Given the description of an element on the screen output the (x, y) to click on. 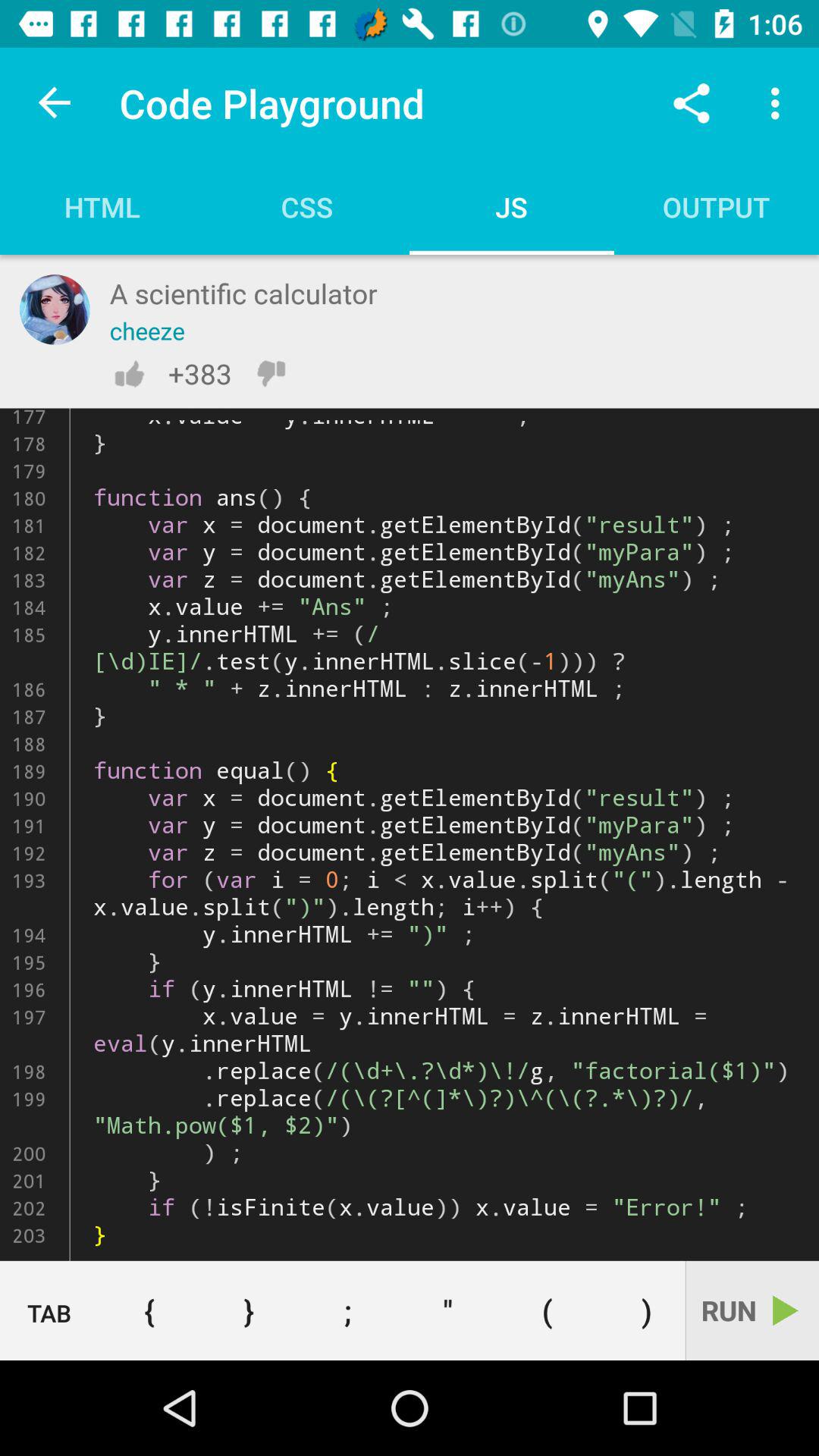
select the function shiftfn ken icon (409, 834)
